Given the description of an element on the screen output the (x, y) to click on. 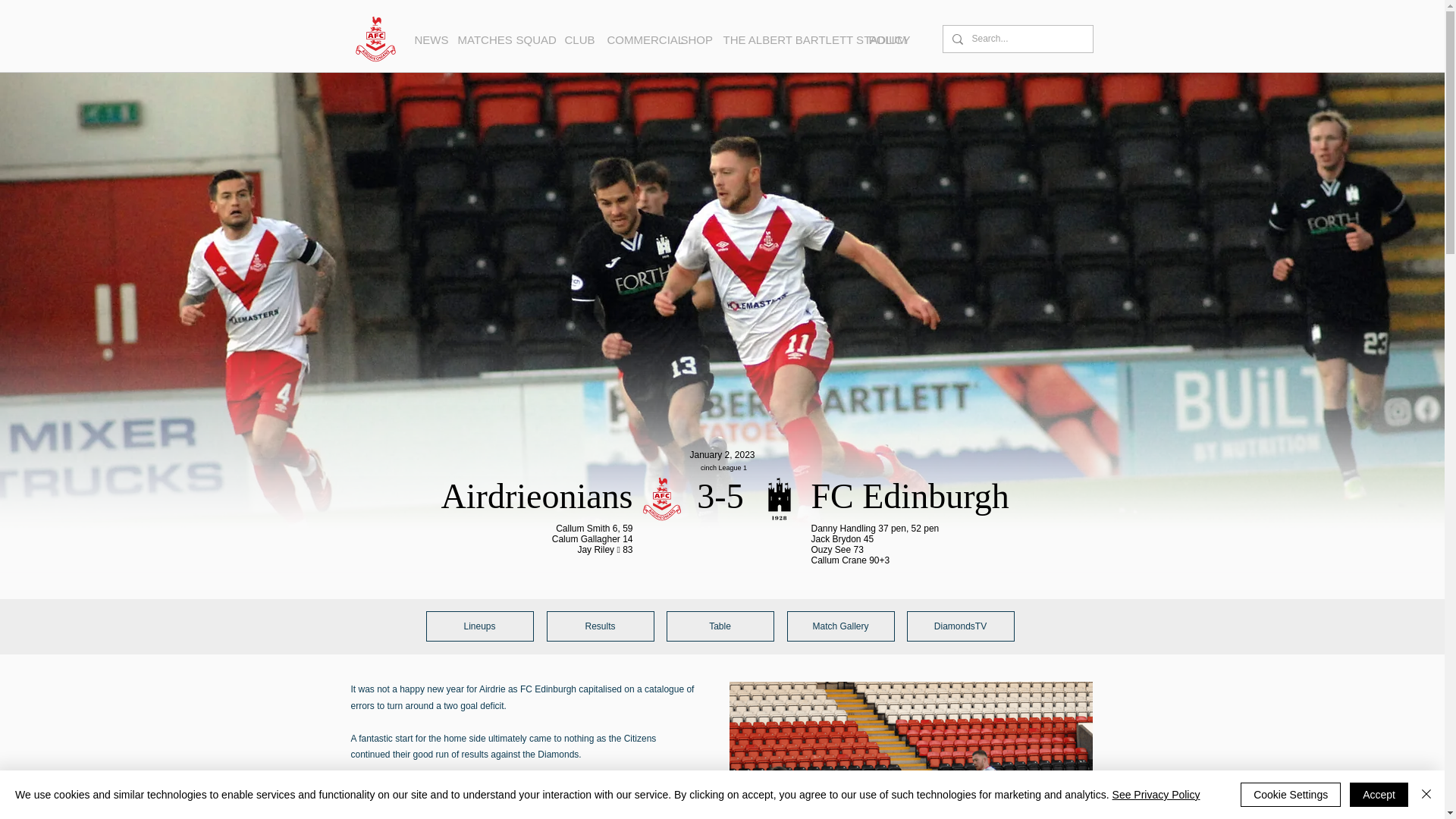
THE ALBERT BARTLETT STADIUM (784, 39)
airdrieonians.png (661, 498)
SHOP (689, 39)
fcedinburgh.png (779, 498)
